Given the description of an element on the screen output the (x, y) to click on. 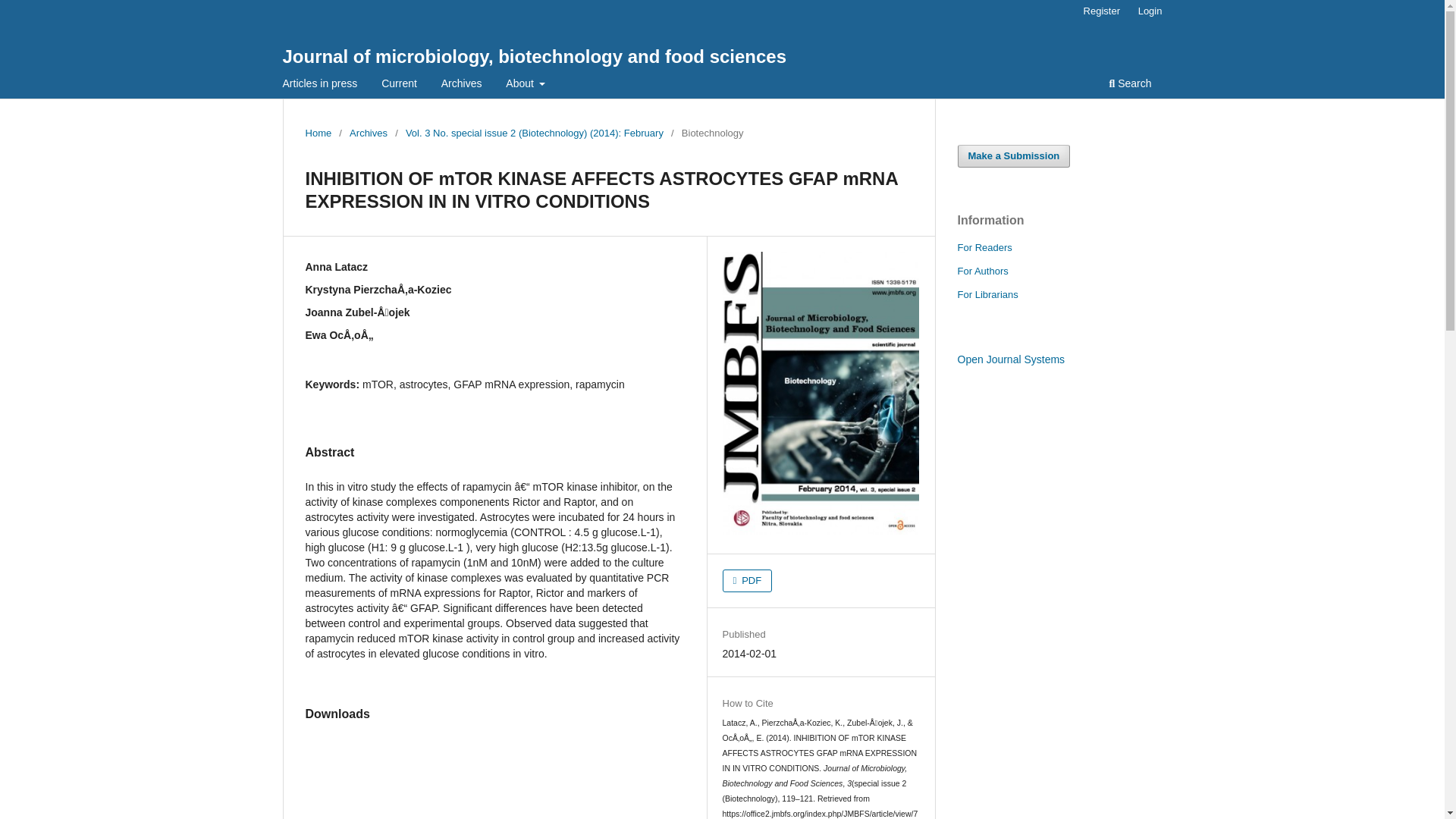
Login (1150, 11)
Journal of microbiology, biotechnology and food sciences (534, 56)
Search (1129, 85)
Archives (368, 133)
PDF (747, 580)
Current (398, 85)
Home (317, 133)
About (525, 85)
Archives (461, 85)
Articles in press (320, 85)
Register (1100, 11)
